Given the description of an element on the screen output the (x, y) to click on. 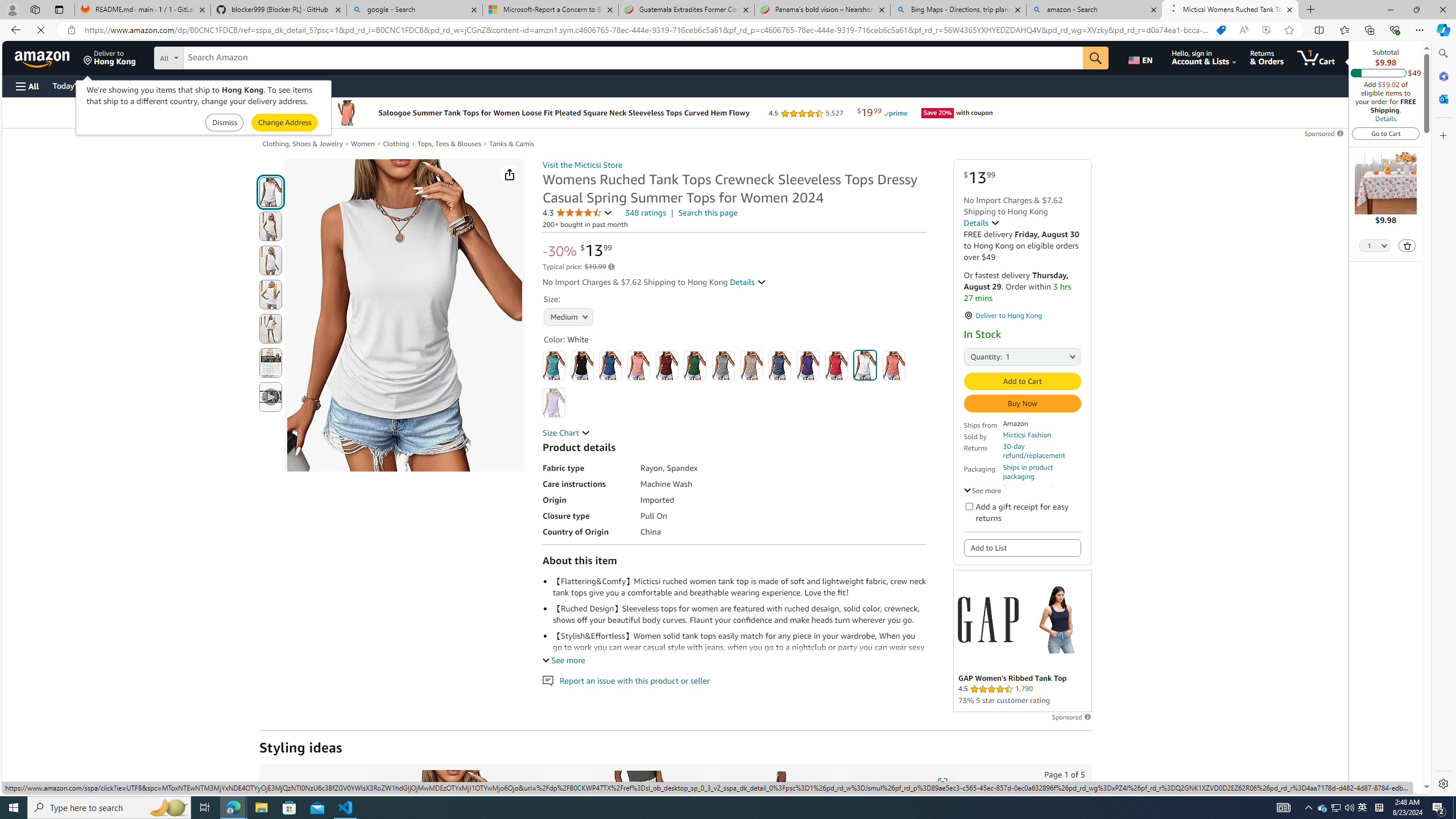
Blue (610, 365)
Gift Cards (251, 85)
Grey (723, 365)
